Given the description of an element on the screen output the (x, y) to click on. 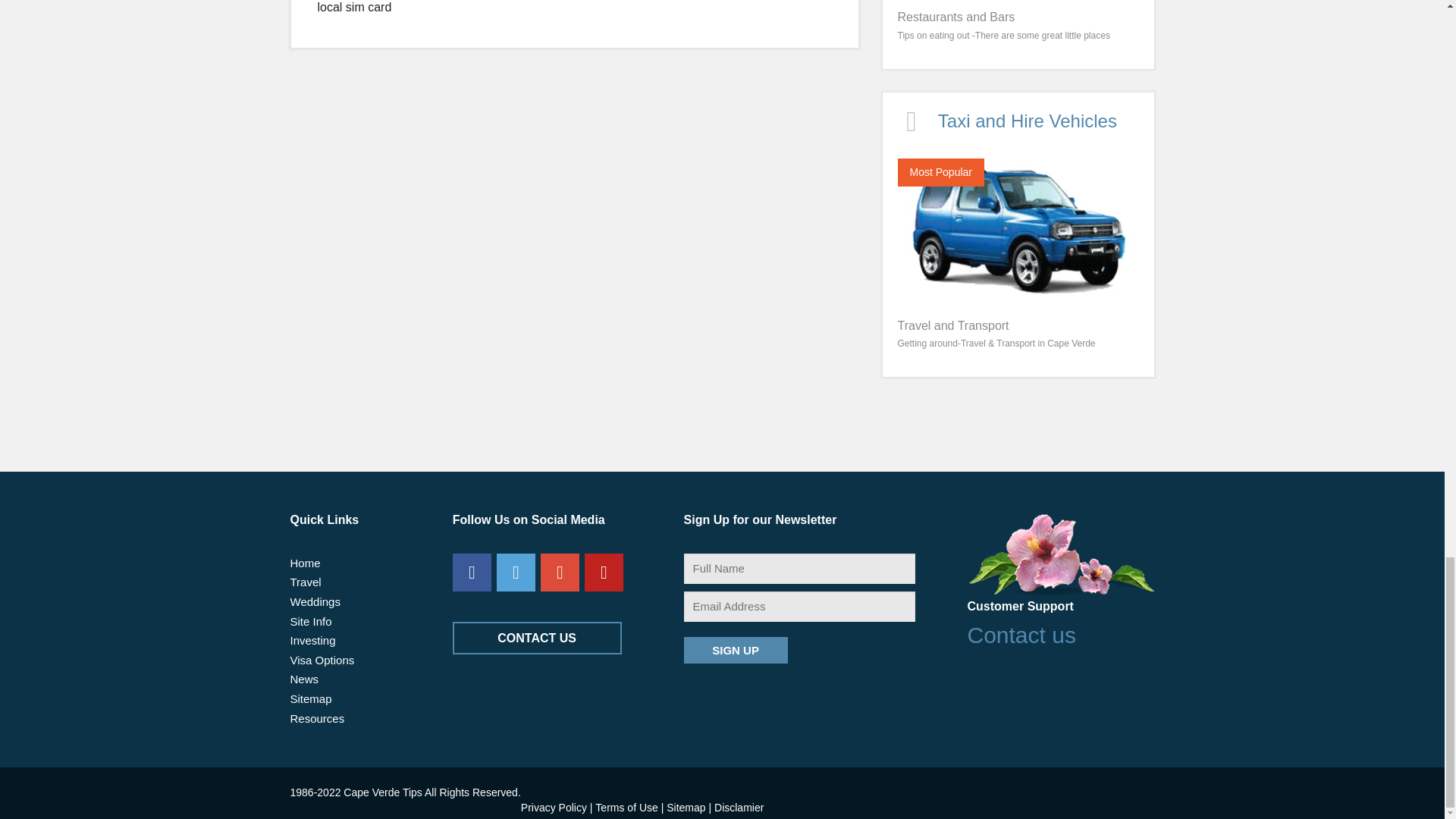
SIGN UP (735, 650)
